Given the description of an element on the screen output the (x, y) to click on. 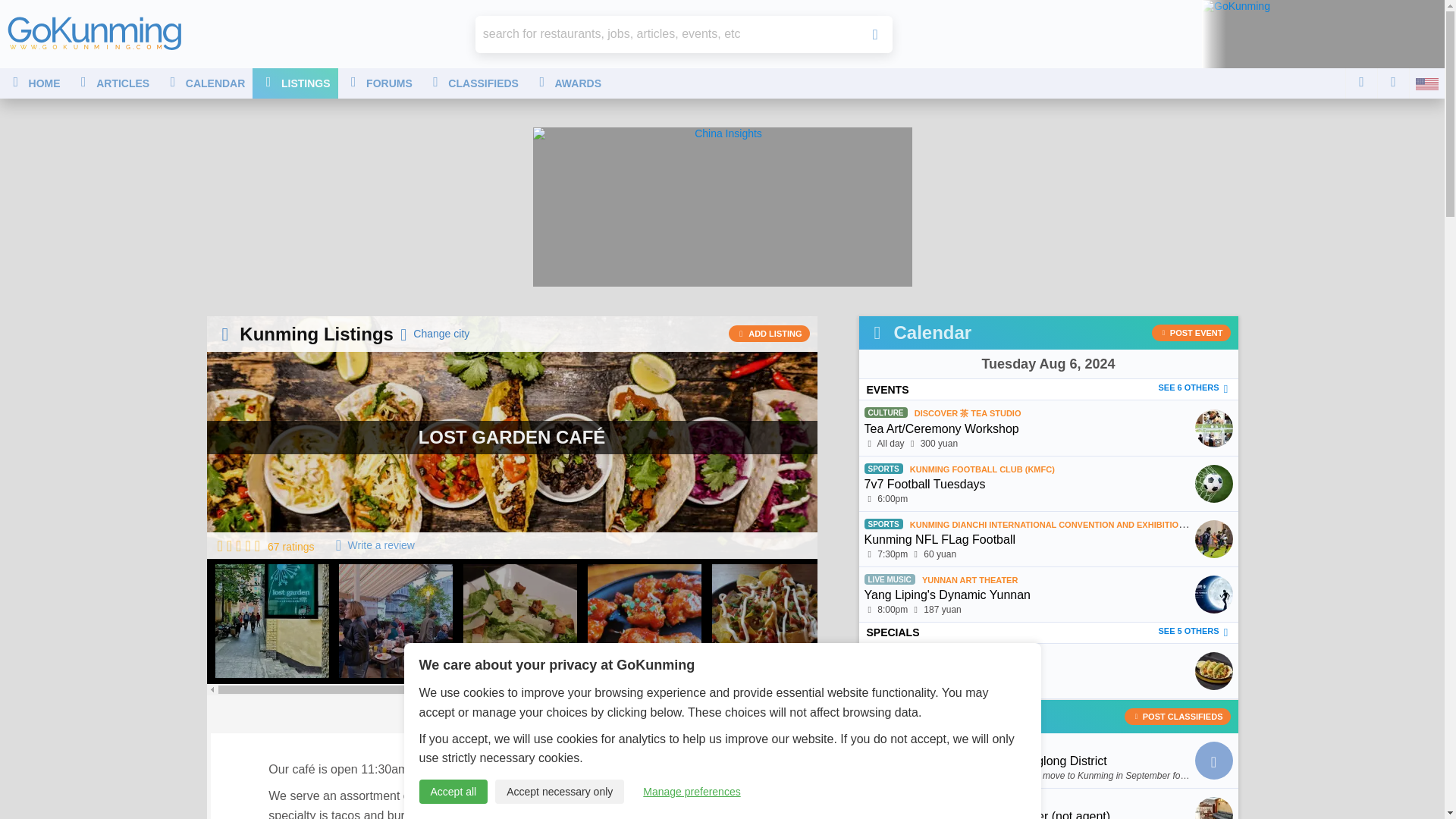
GoKunming (94, 33)
AWARDS (566, 82)
FORUMS (378, 82)
ARTICLES (112, 82)
CLASSIFIEDS (472, 82)
CALENDAR (204, 82)
Open the calendar (1048, 363)
LISTINGS (294, 82)
HOME (34, 82)
